Given the description of an element on the screen output the (x, y) to click on. 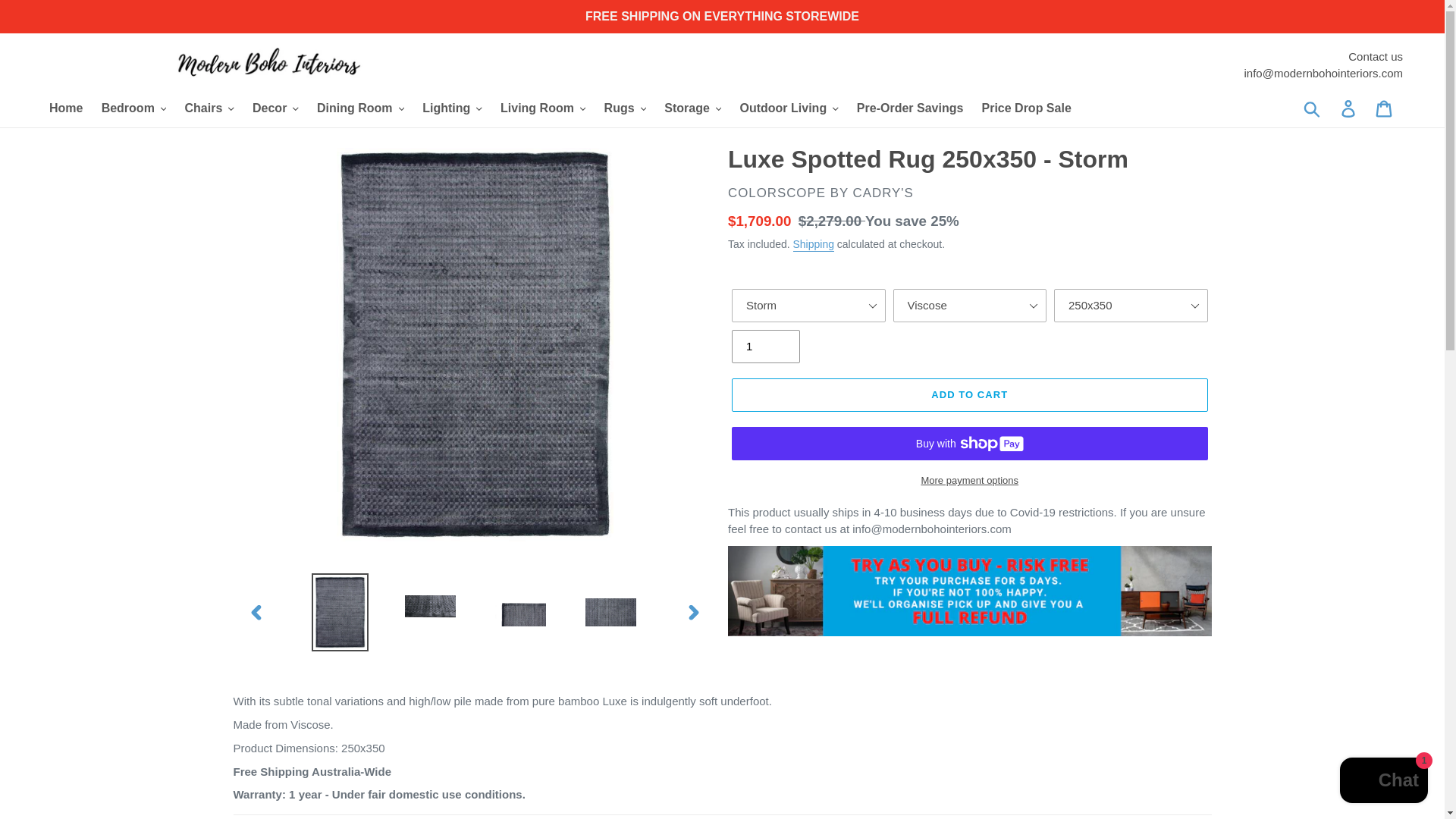
Shopify online store chat (1383, 781)
Home (66, 108)
1 (765, 346)
